Given the description of an element on the screen output the (x, y) to click on. 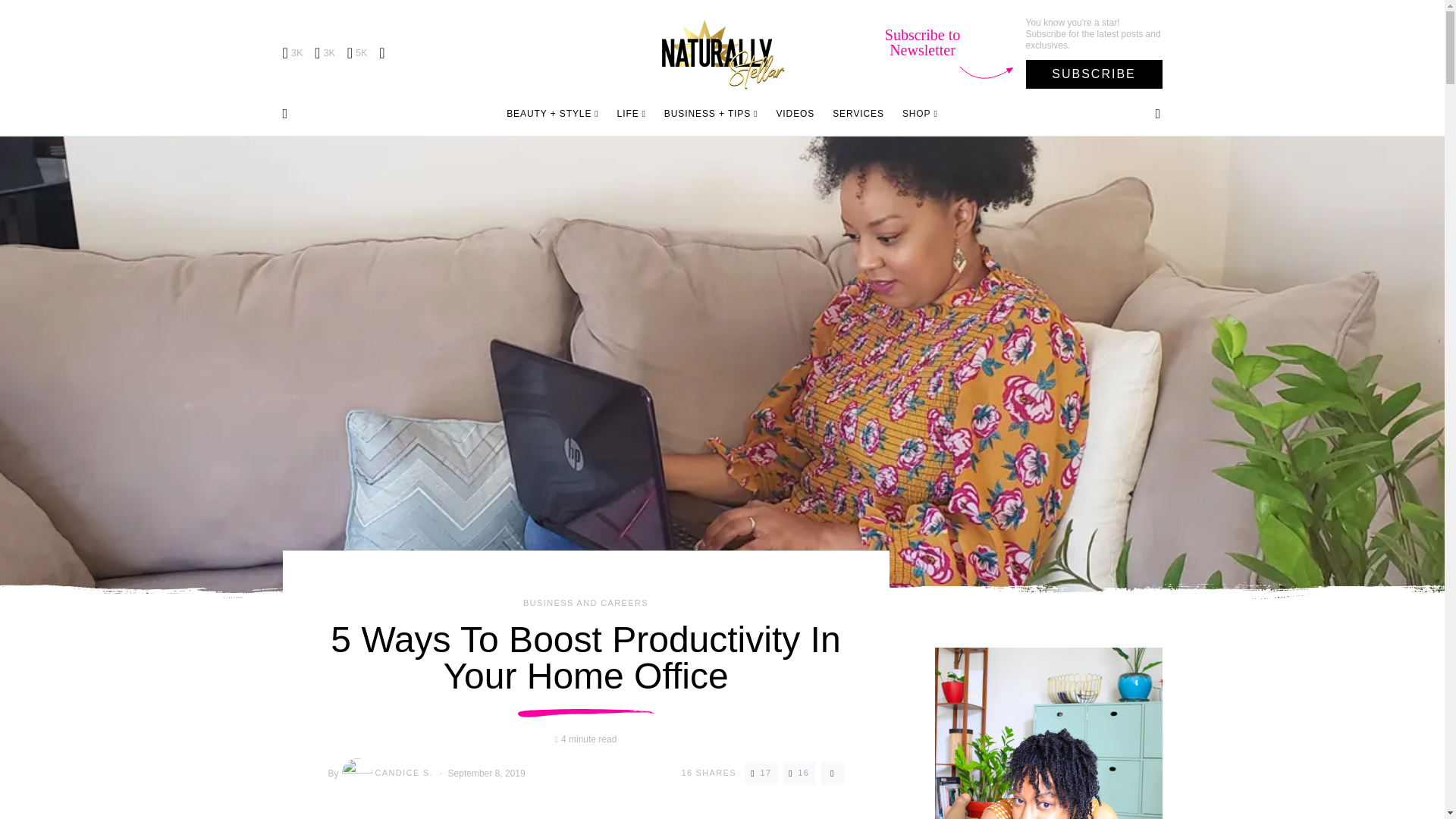
SUBSCRIBE (1093, 73)
3K (292, 52)
Shop Fly Mama (915, 113)
5K (357, 52)
View all posts by Candice S. (386, 773)
3K (324, 52)
